Given the description of an element on the screen output the (x, y) to click on. 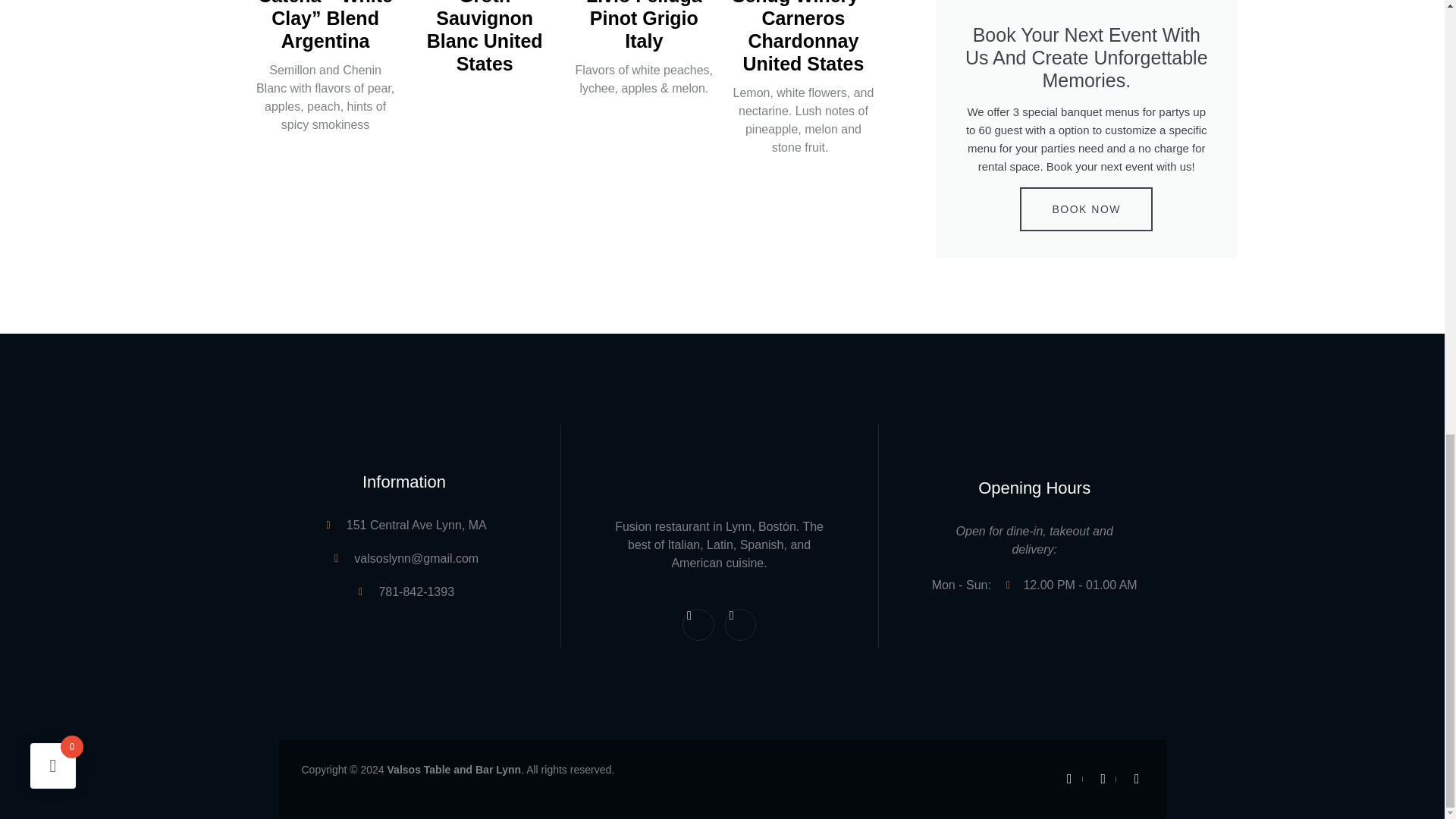
12.00 PM - 01.00 AM (719, 624)
Livio Felluga Pinot Grigio Italy (1071, 585)
Groth Sauvignon Blanc United States (644, 26)
Open for dine-in, takeout and delivery: (484, 37)
Mon - Sun: (1035, 541)
Information (968, 585)
Opening Hours (404, 482)
